Given the description of an element on the screen output the (x, y) to click on. 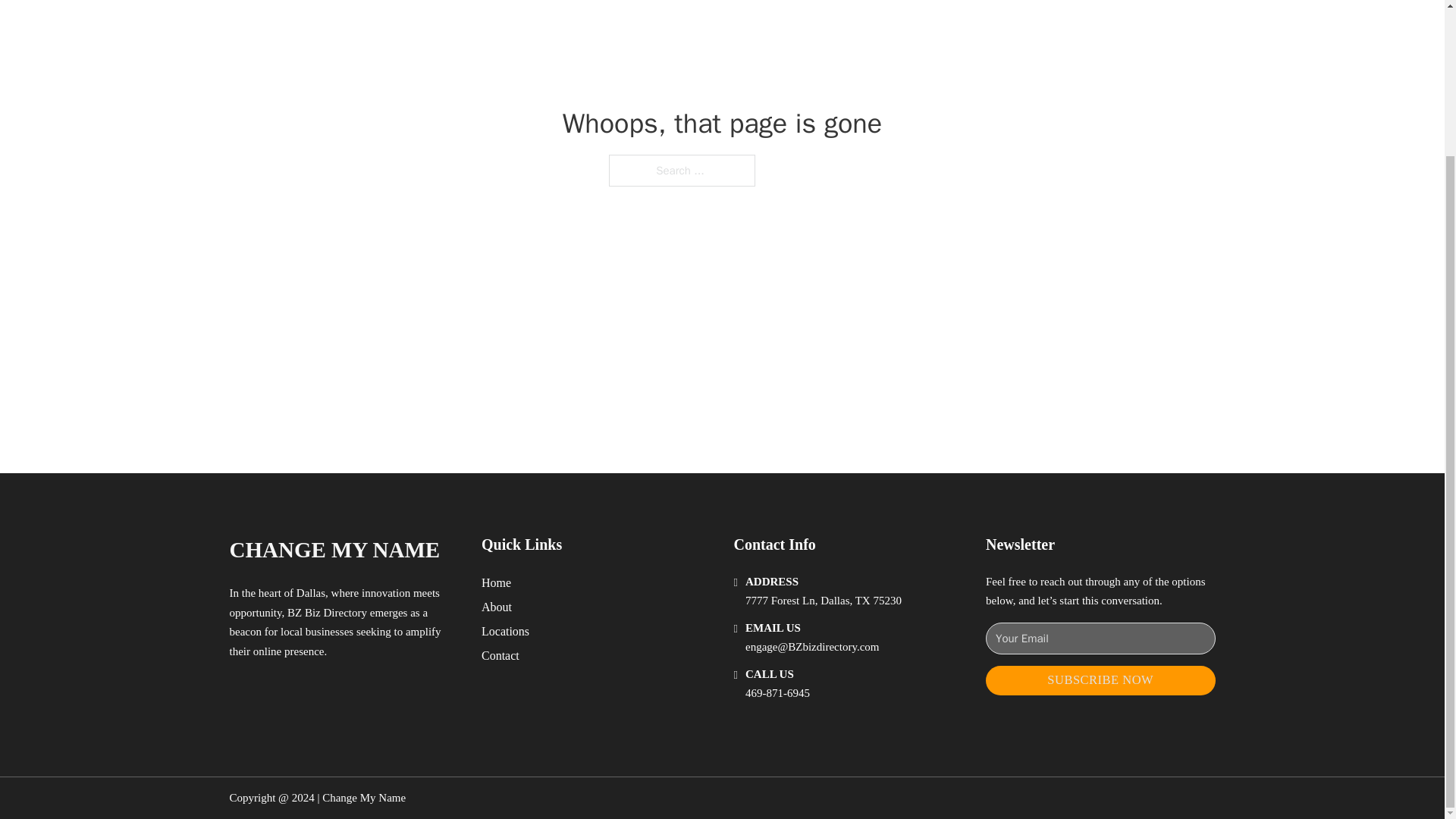
SUBSCRIBE NOW (1100, 680)
Locations (505, 630)
CHANGE MY NAME (333, 549)
Contact (500, 655)
469-871-6945 (777, 693)
About (496, 607)
Home (496, 582)
